Given the description of an element on the screen output the (x, y) to click on. 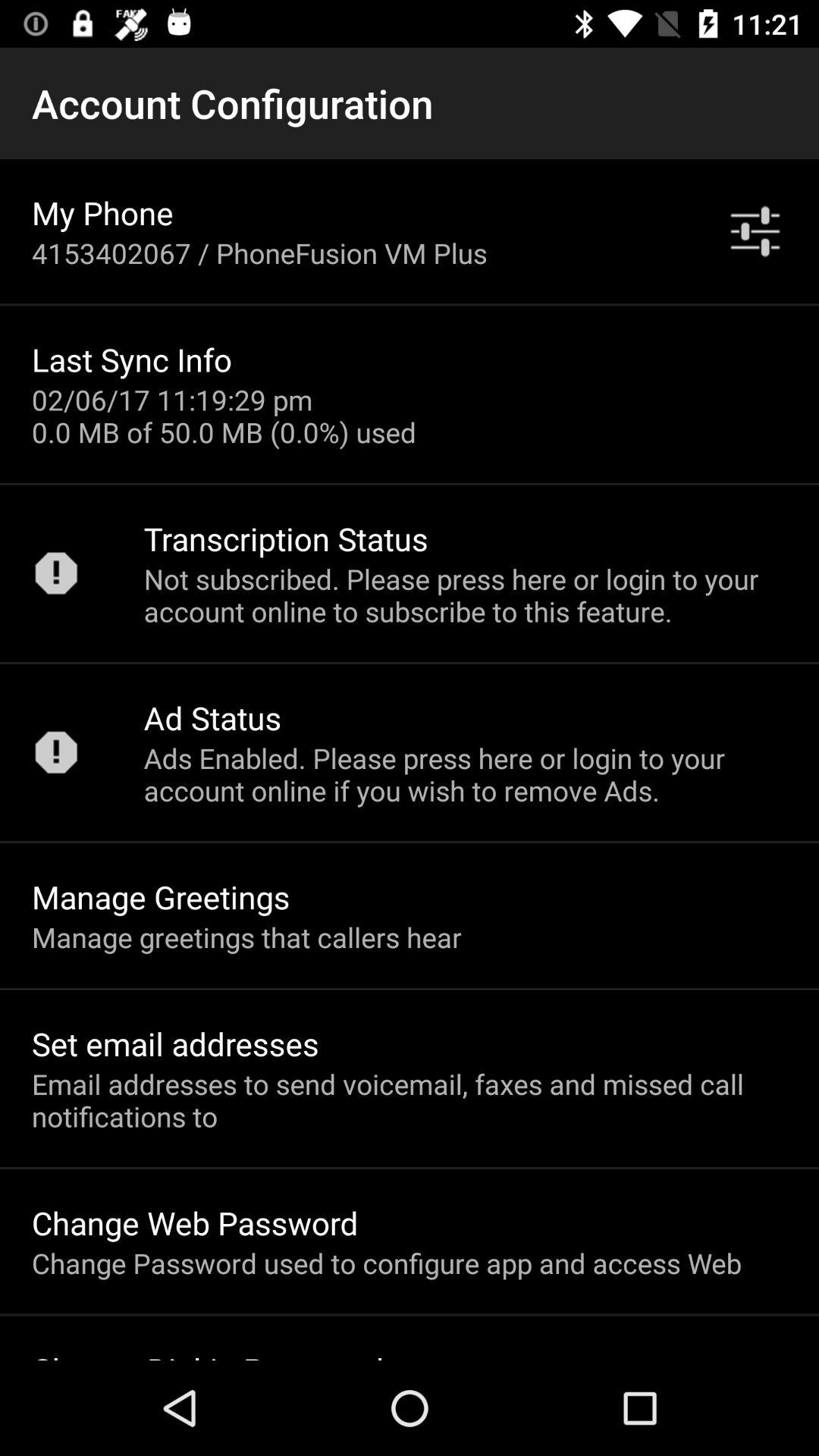
swipe until my phone item (102, 212)
